Given the description of an element on the screen output the (x, y) to click on. 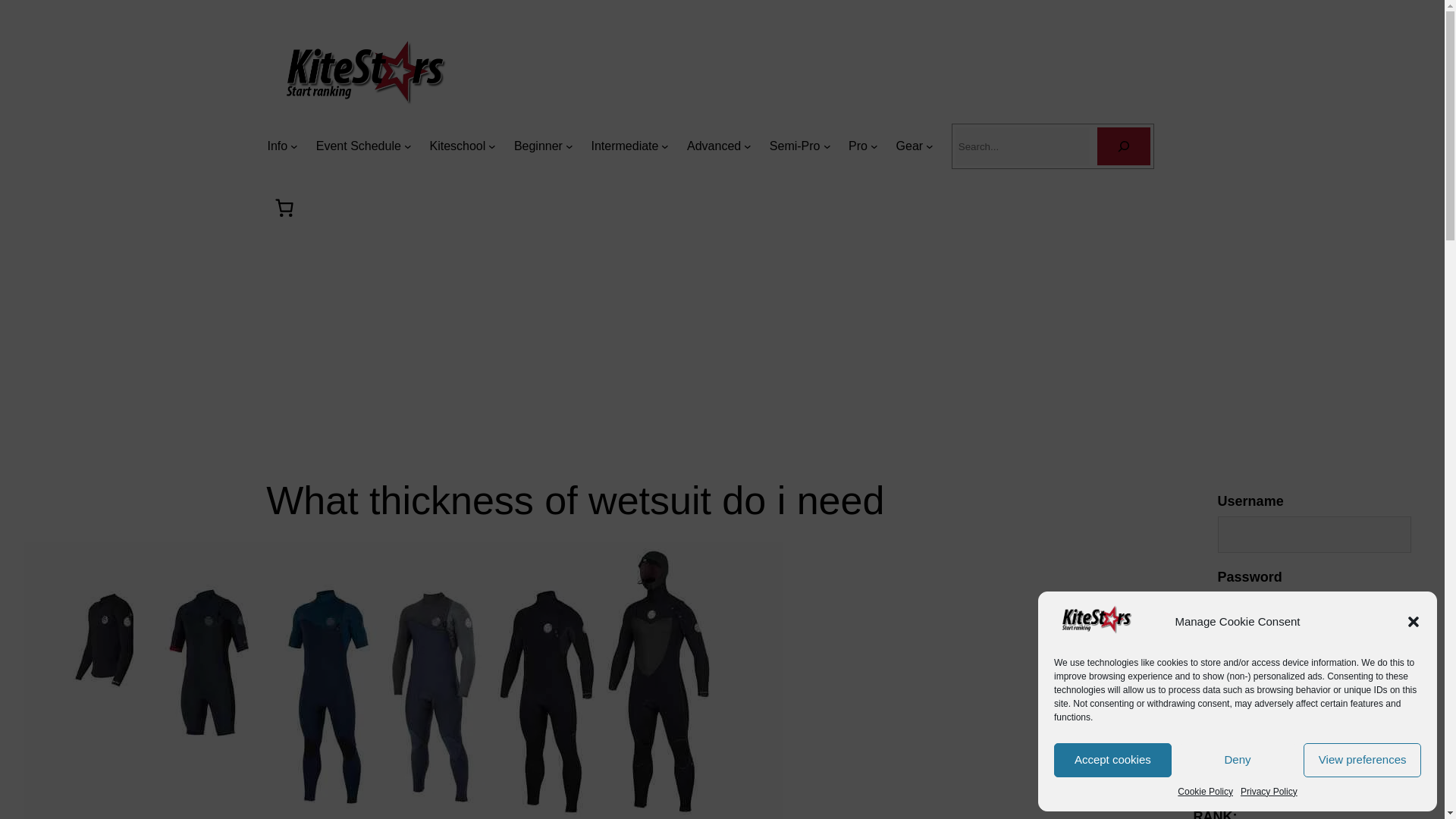
Beginner (537, 146)
Accept cookies (1113, 759)
Privacy Policy (1268, 791)
forever (1225, 653)
Deny (1238, 759)
Kiteschool (456, 146)
Info (276, 146)
Event Schedule (358, 146)
Log In (1256, 699)
Cookie Policy (1205, 791)
View preferences (1362, 759)
